Given the description of an element on the screen output the (x, y) to click on. 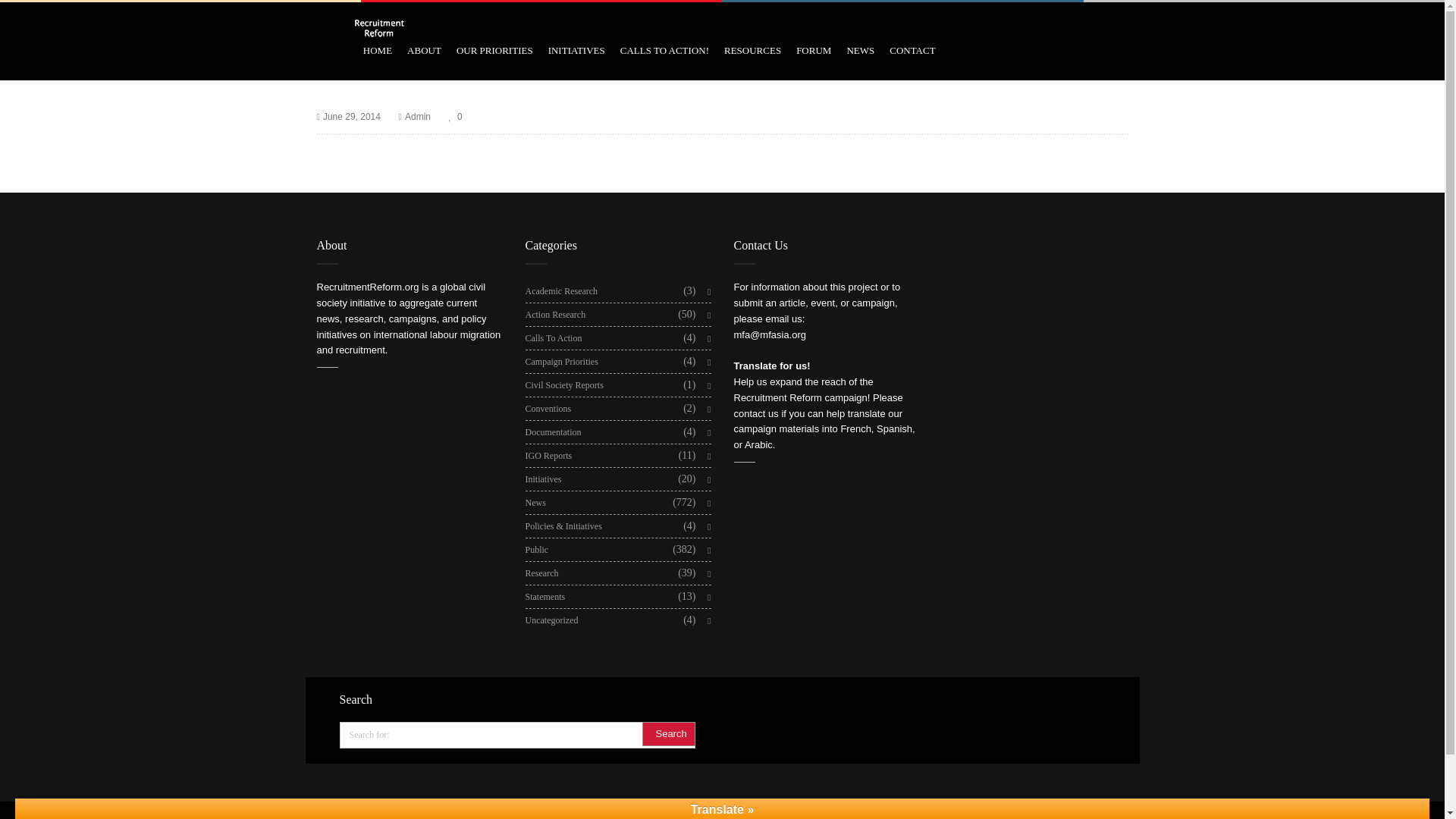
HOME (376, 50)
ABOUT (424, 50)
INITIATIVES (576, 50)
Conventions (547, 408)
NEWS (860, 50)
CONTACT (911, 50)
Campaign Priorities (560, 361)
RecruitmentReform.org (368, 286)
FORUM (813, 50)
Action Research (554, 314)
0 (455, 116)
Civil Society Reports (563, 384)
Calls To Action (552, 337)
Academic Research (560, 291)
CALLS TO ACTION! (664, 50)
